Given the description of an element on the screen output the (x, y) to click on. 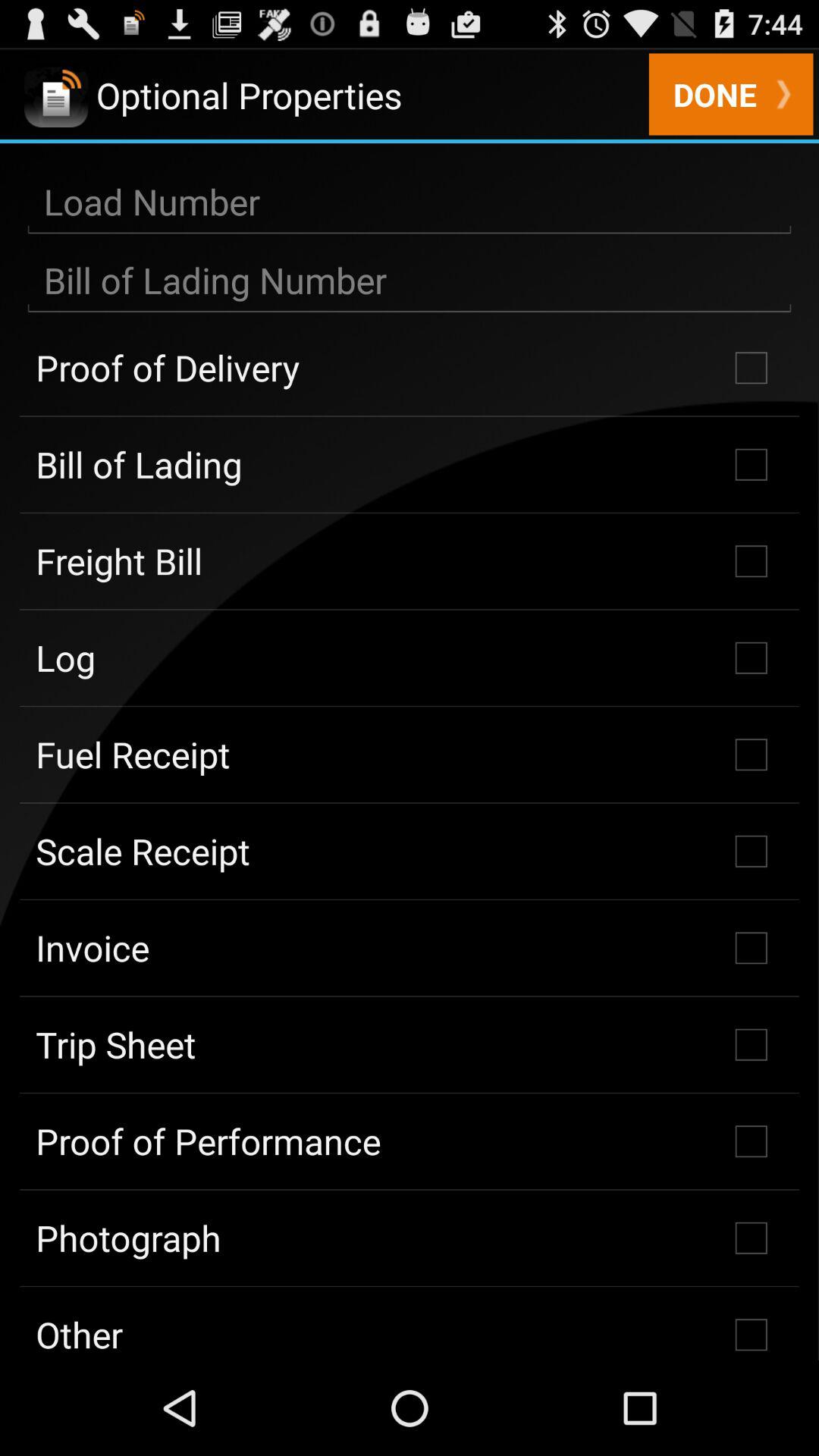
launch the item below the photograph (409, 1323)
